Given the description of an element on the screen output the (x, y) to click on. 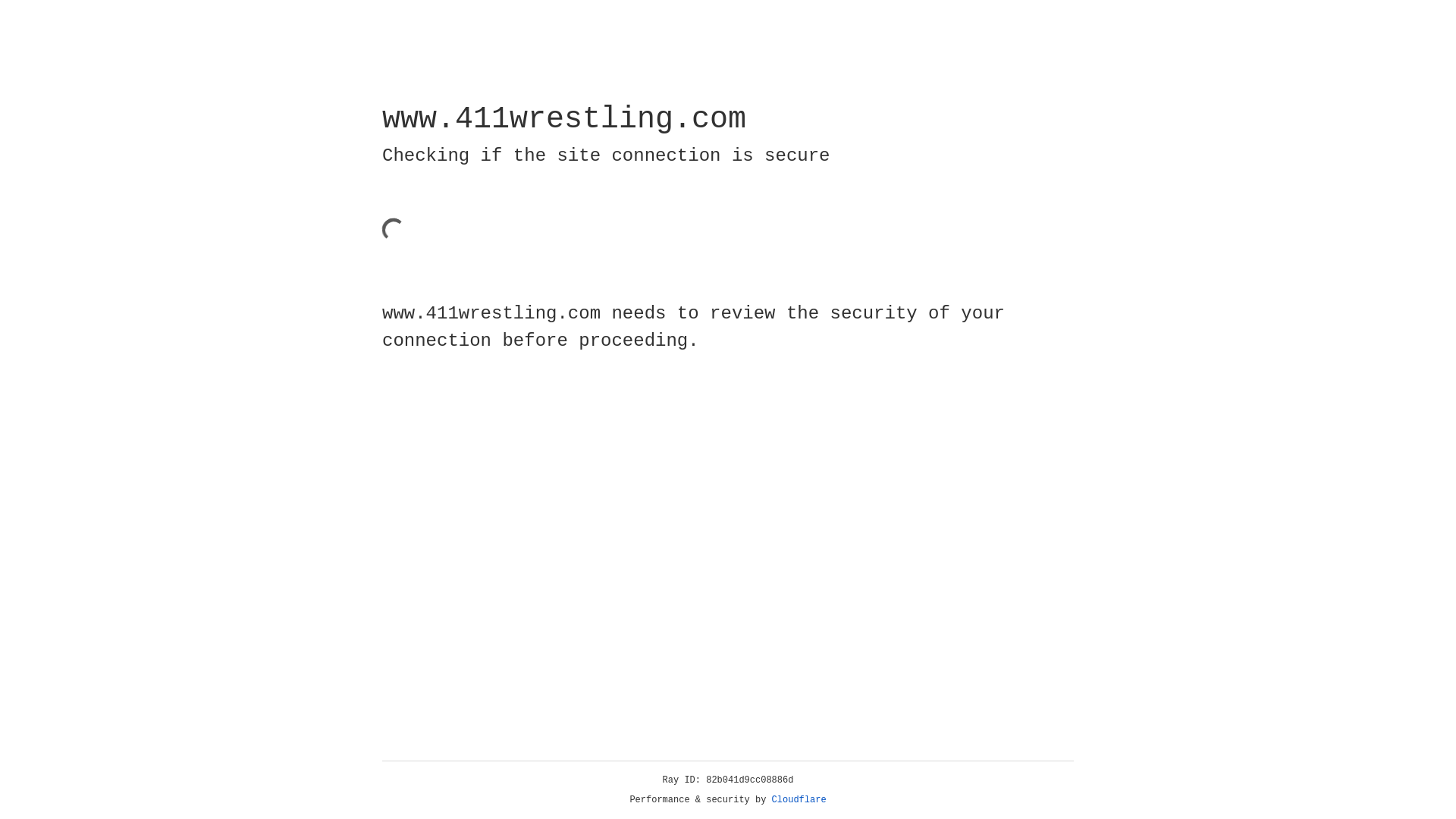
Cloudflare Element type: text (798, 799)
